Given the description of an element on the screen output the (x, y) to click on. 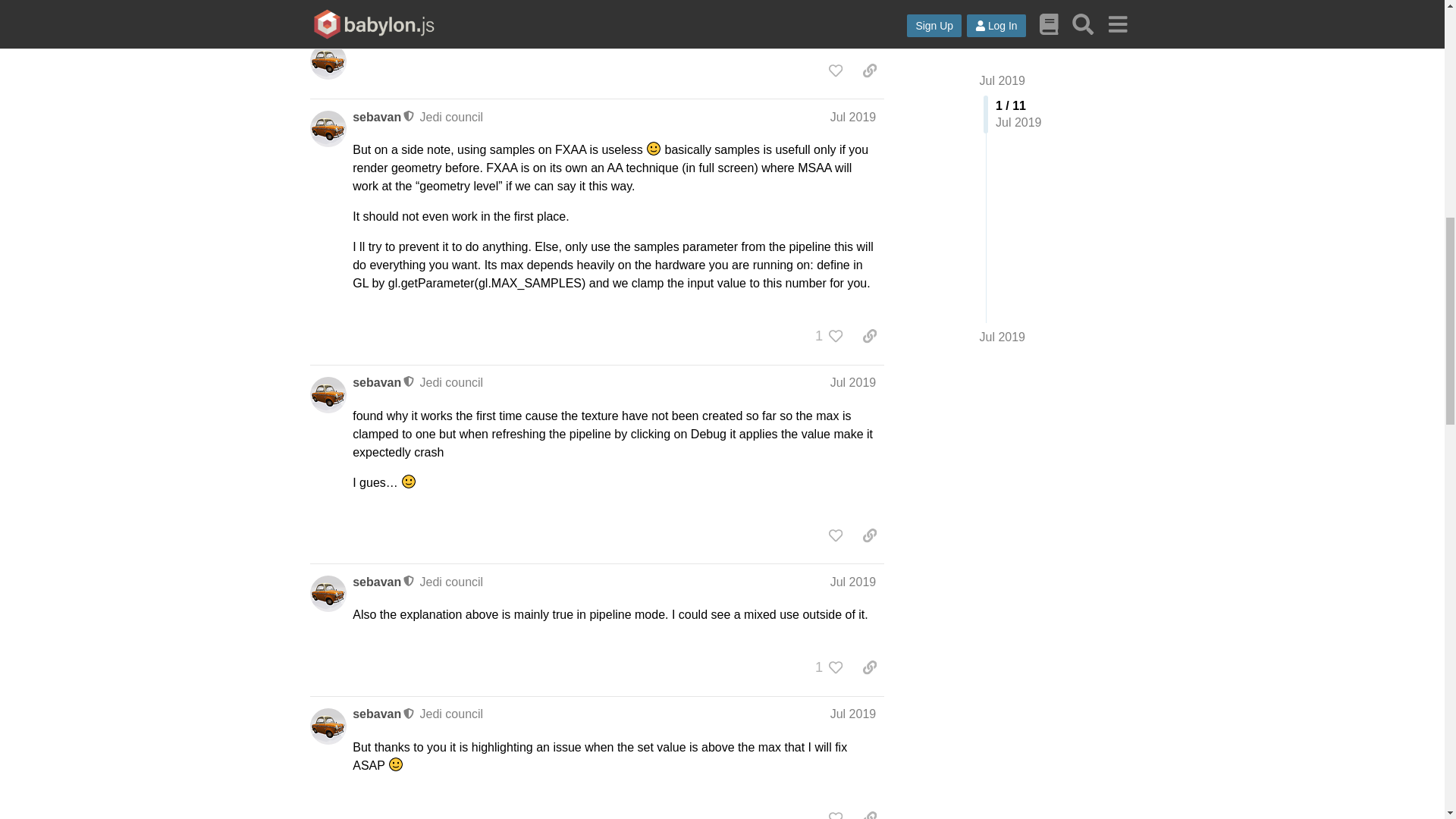
Babylon.js 7.0 Release Video (406, 4)
